Given the description of an element on the screen output the (x, y) to click on. 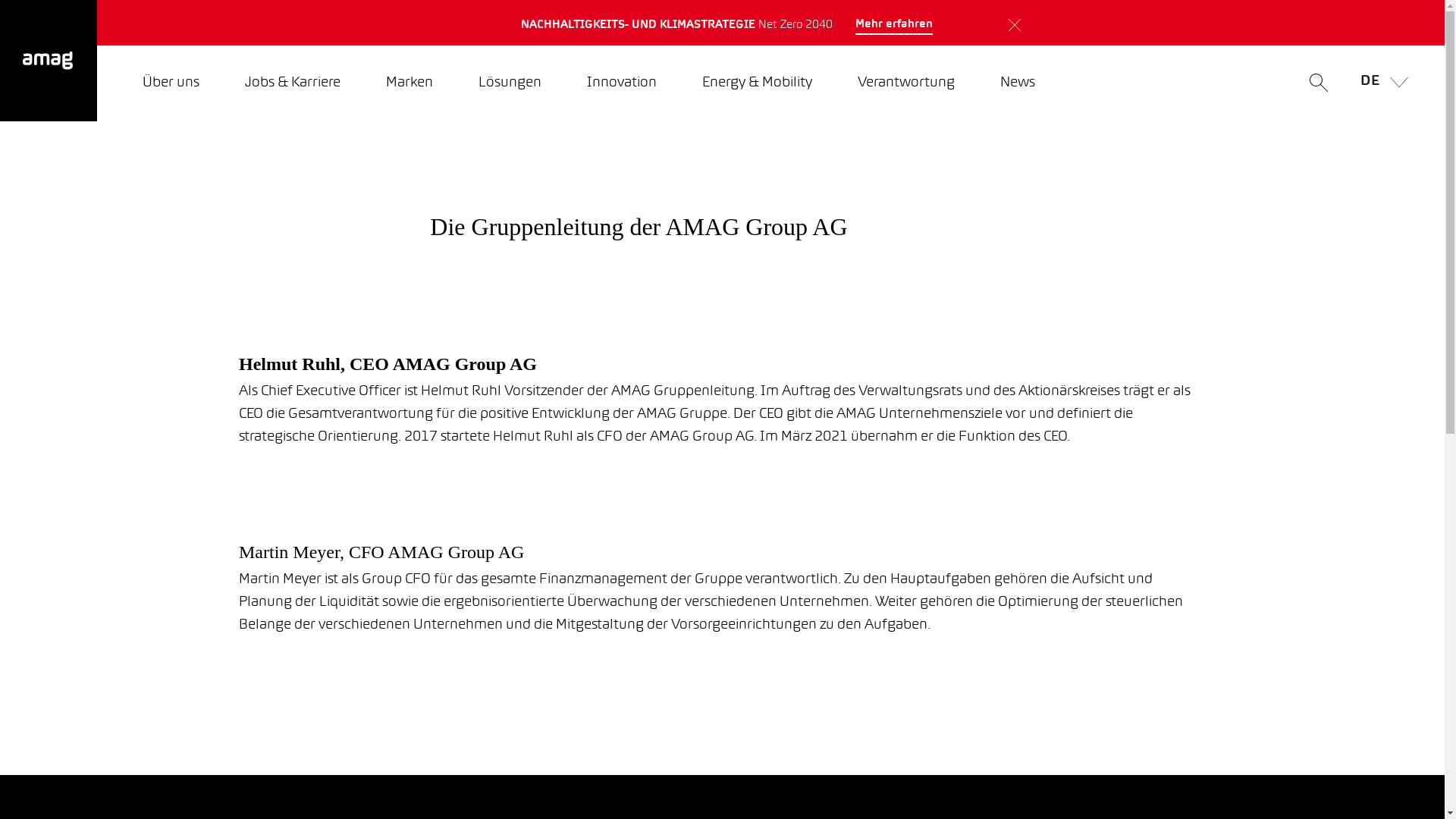
AMAG BLOG Element type: text (857, 22)
Energy & Mobility Element type: text (756, 83)
News Element type: text (1017, 83)
DE Element type: text (1380, 83)
NACHHALTIGKEITS- UND KLIMASTRATEGIE Net Zero 2040 Element type: text (579, 22)
Mehr erfahren Element type: text (893, 24)
Innovation Element type: text (621, 83)
Marken Element type: text (409, 83)
Verantwortung Element type: text (905, 83)
Jobs & Karriere Element type: text (292, 83)
